Given the description of an element on the screen output the (x, y) to click on. 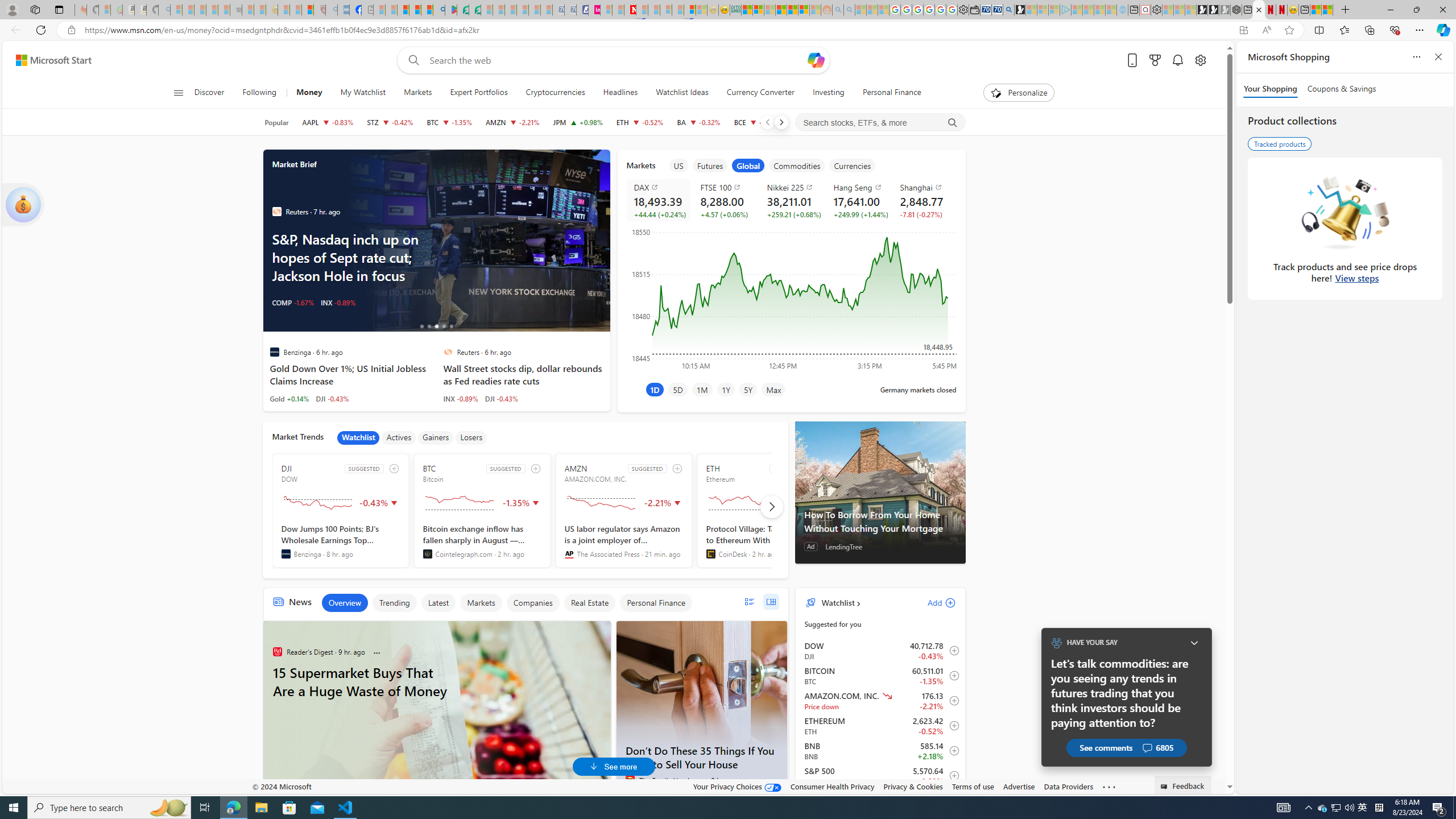
Consumer Health Privacy (832, 785)
Jobs - lastminute.com Investor Portal (594, 9)
Wallet (974, 9)
The Family Handyman (629, 779)
New Report Confirms 2023 Was Record Hot | Watch - Sleeping (223, 9)
FTSE 100 UKX increase 8,288.00 +4.57 +0.06% (725, 200)
Web search (411, 60)
JPM JPMORGAN CHASE & CO. increase 216.71 +2.11 +0.98% (578, 122)
1Y (725, 389)
Watchlist Ideas (682, 92)
